Given the description of an element on the screen output the (x, y) to click on. 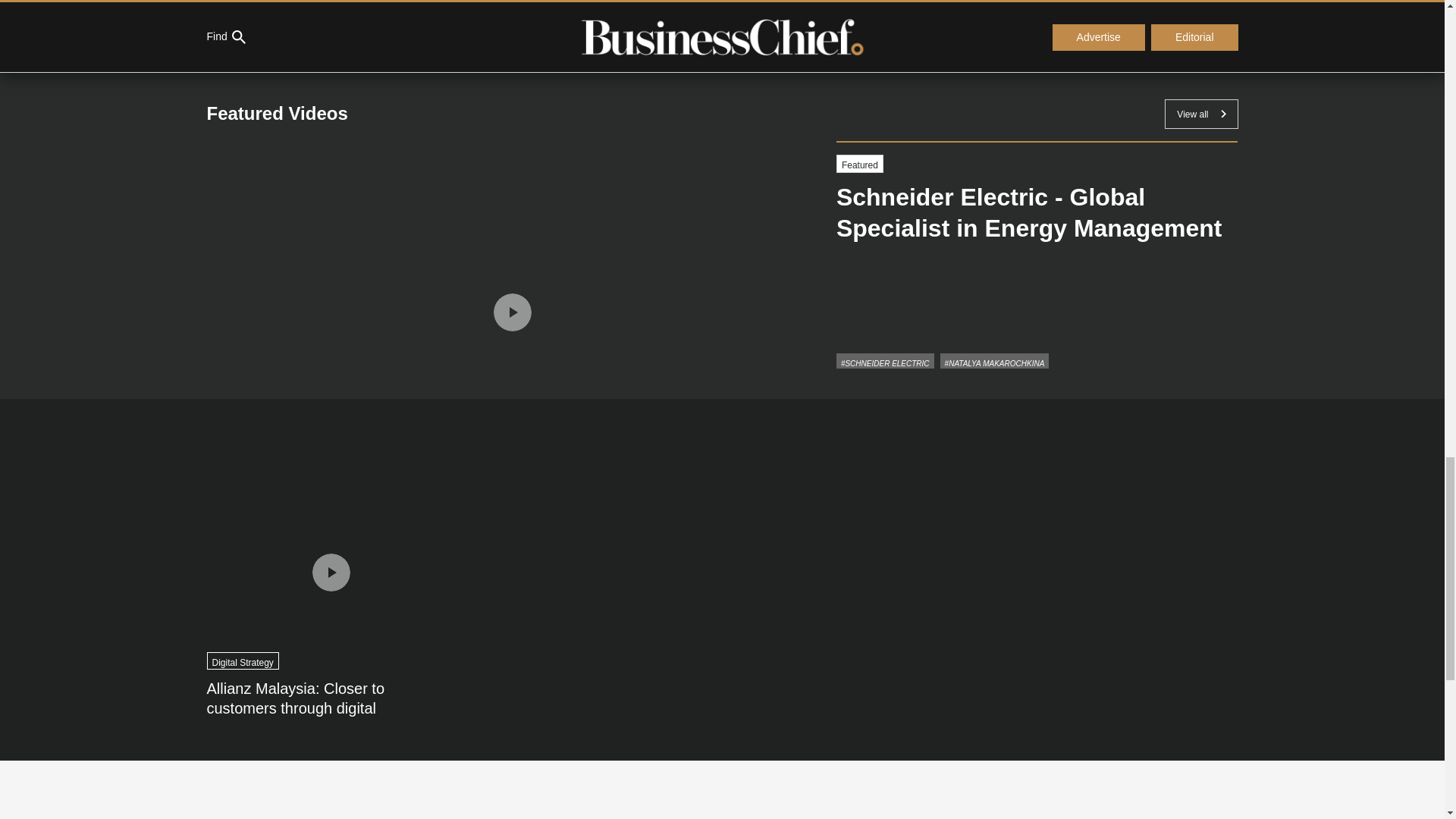
View all (1200, 113)
